Given the description of an element on the screen output the (x, y) to click on. 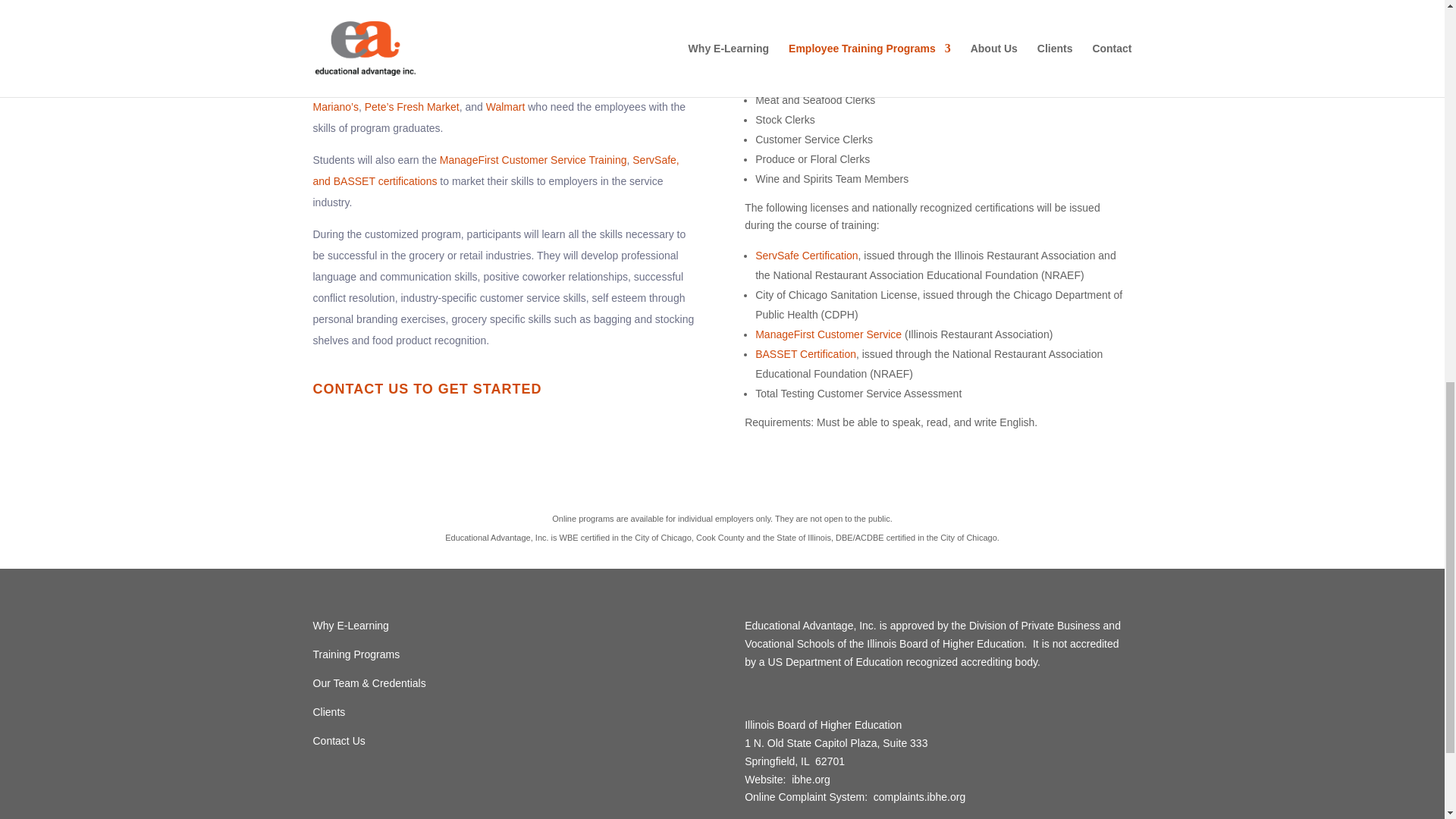
ManageFirst Customer Service Training (533, 159)
ServSafe Certification (806, 255)
Why E-Learning (350, 625)
Contact Us (339, 740)
Clients (329, 711)
ManageFirst Customer Service (828, 334)
Walmart (505, 106)
Training Programs (355, 654)
CONTACT US TO GET STARTED (427, 388)
ServSafe, and BASSET certifications (495, 170)
BASSET Certification (805, 354)
